Given the description of an element on the screen output the (x, y) to click on. 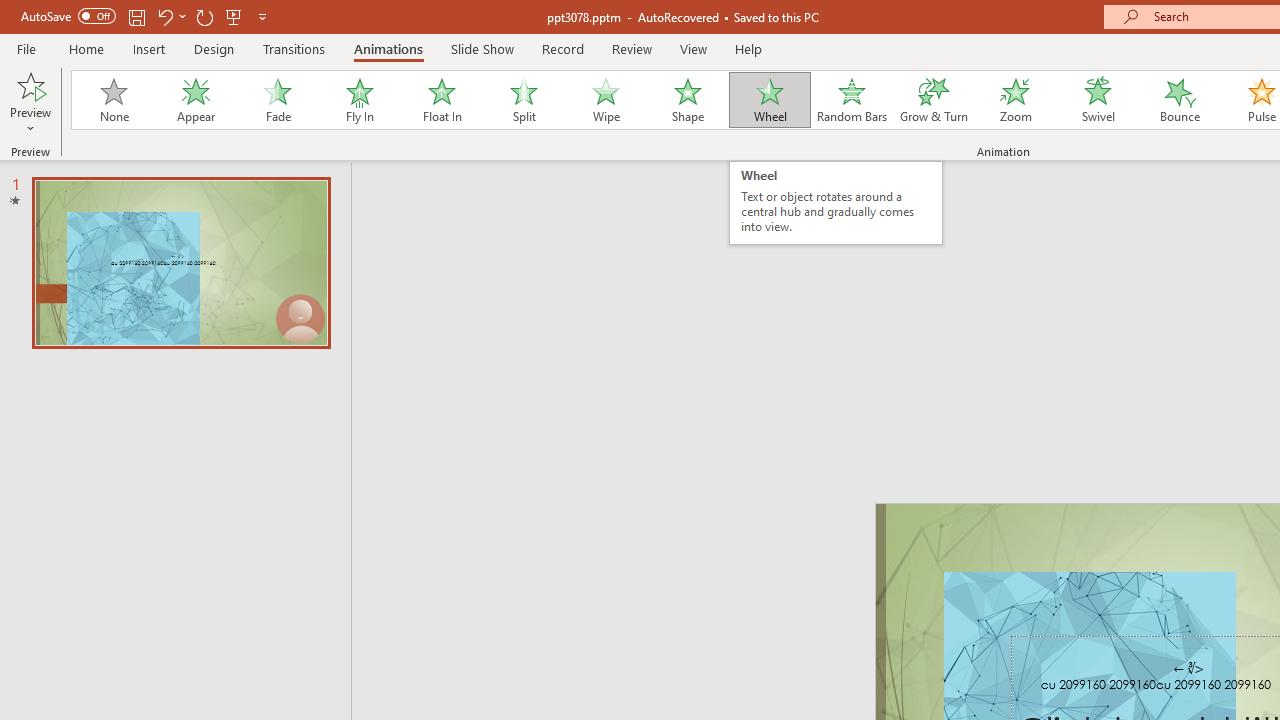
Bounce (1180, 100)
TextBox 7 (1188, 668)
